Given the description of an element on the screen output the (x, y) to click on. 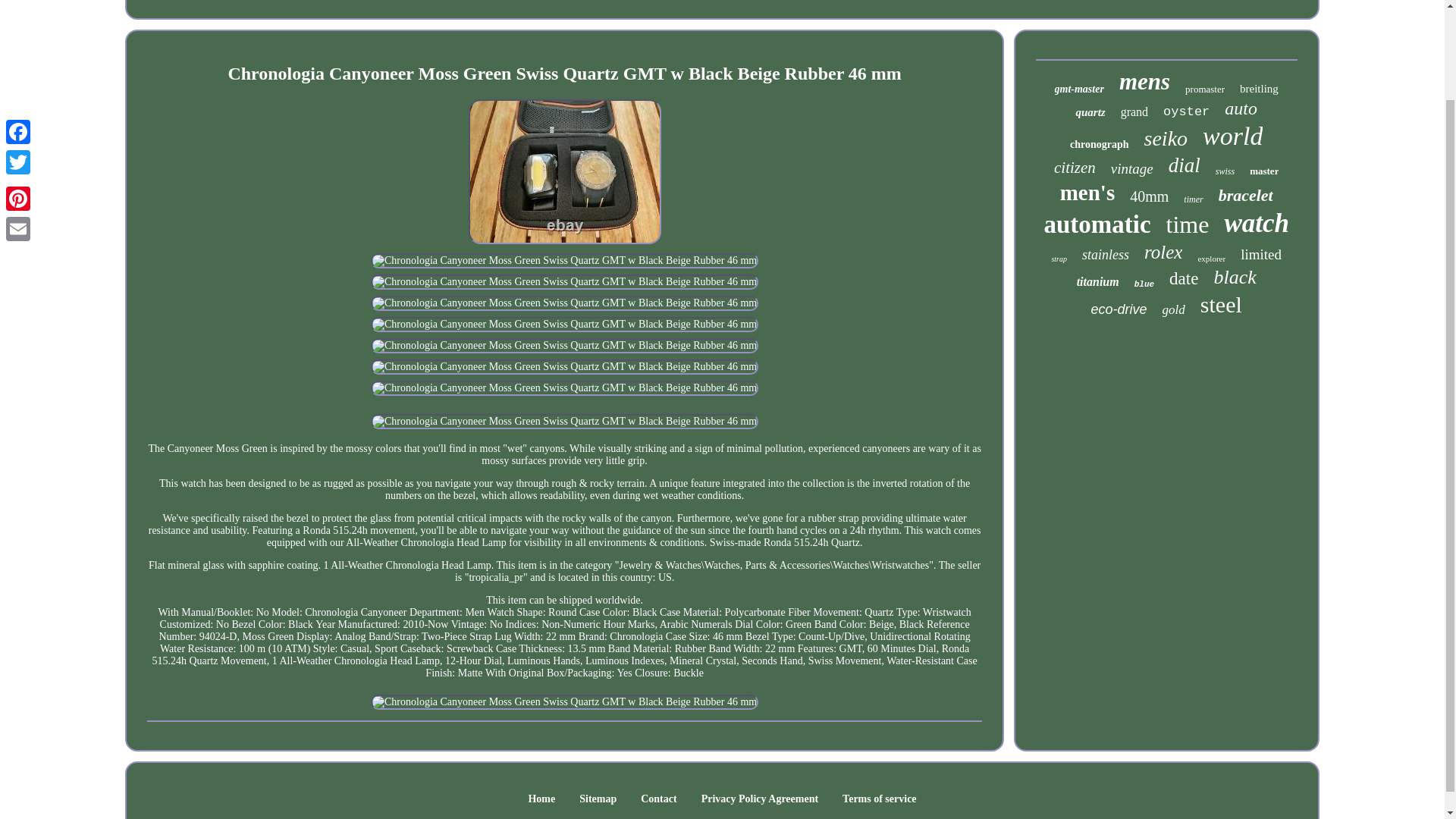
explorer (1210, 257)
chronograph (1099, 144)
master (1263, 171)
Facebook (17, 26)
Email (17, 123)
quartz (1090, 112)
stainless (1105, 254)
Pinterest (17, 92)
swiss (1224, 171)
automatic (1096, 224)
bracelet (1245, 195)
world (1232, 136)
